Given the description of an element on the screen output the (x, y) to click on. 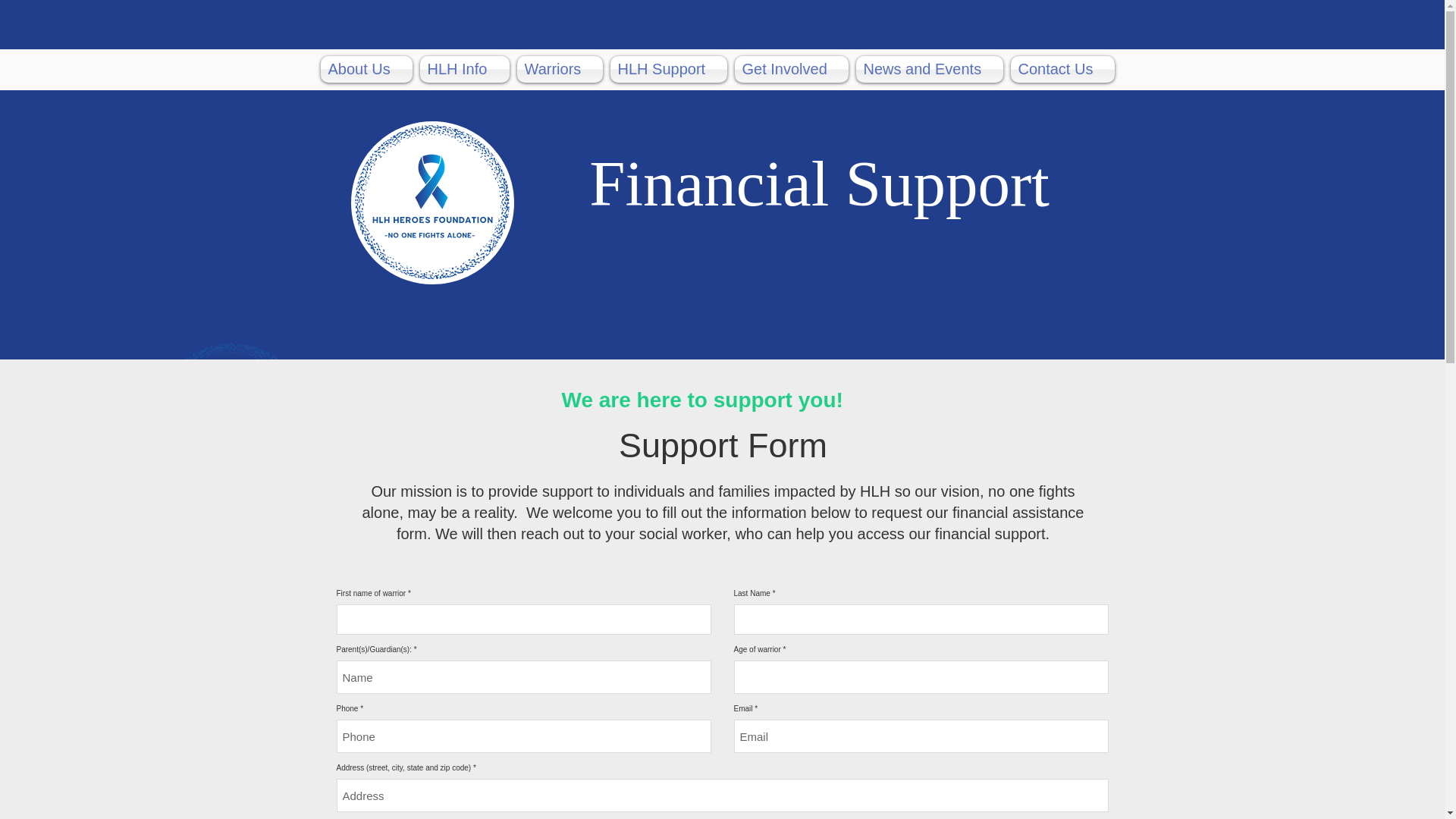
Contact Us (1061, 69)
Warriors (558, 69)
